Given the description of an element on the screen output the (x, y) to click on. 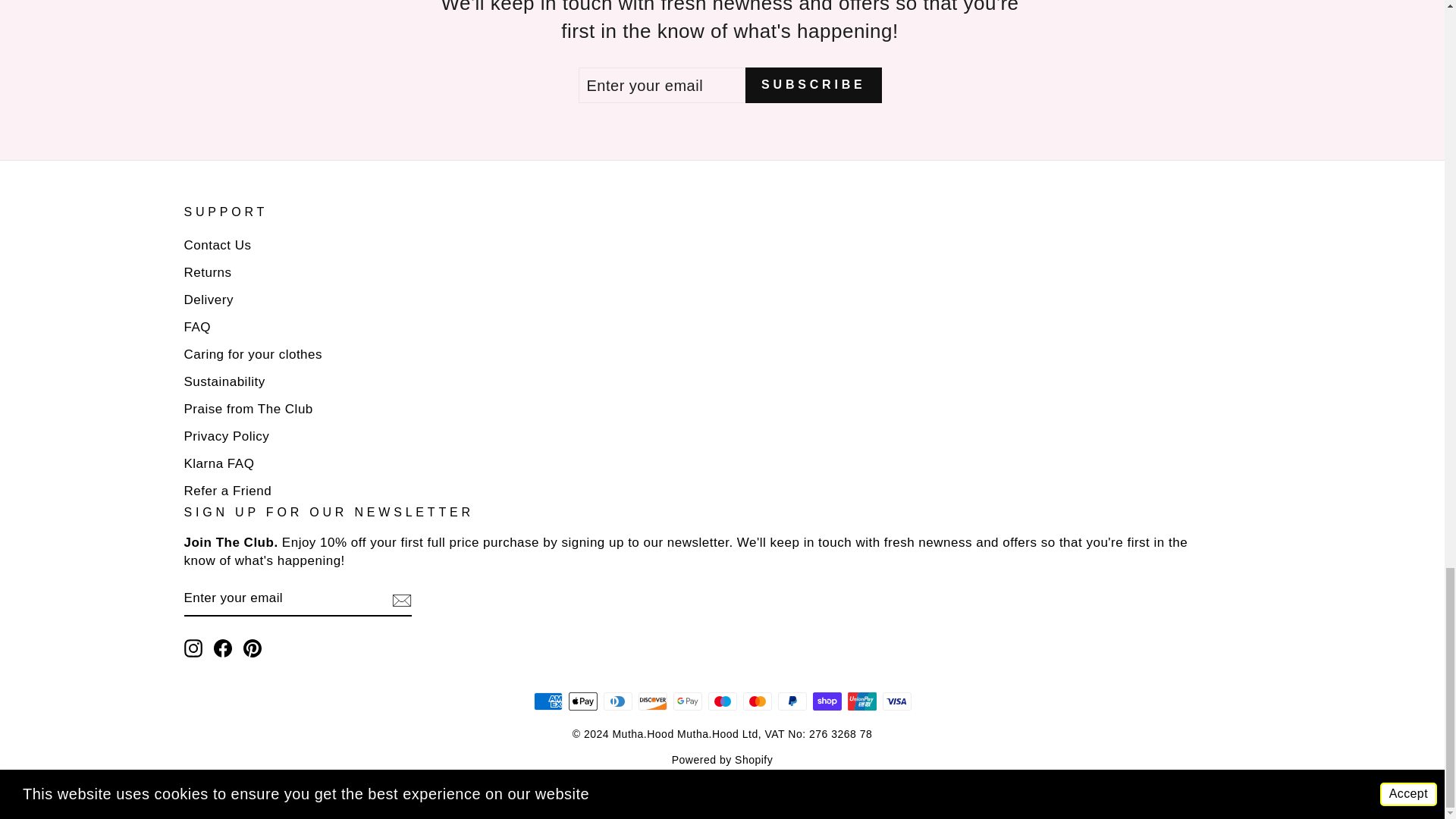
Mutha.Hood on Facebook (222, 648)
Apple Pay (582, 701)
icon-email (400, 600)
American Express (548, 701)
Diners Club (617, 701)
Discover (652, 701)
instagram (192, 648)
Mutha.Hood on Pinterest (251, 648)
Mutha.Hood on Instagram (192, 648)
